Given the description of an element on the screen output the (x, y) to click on. 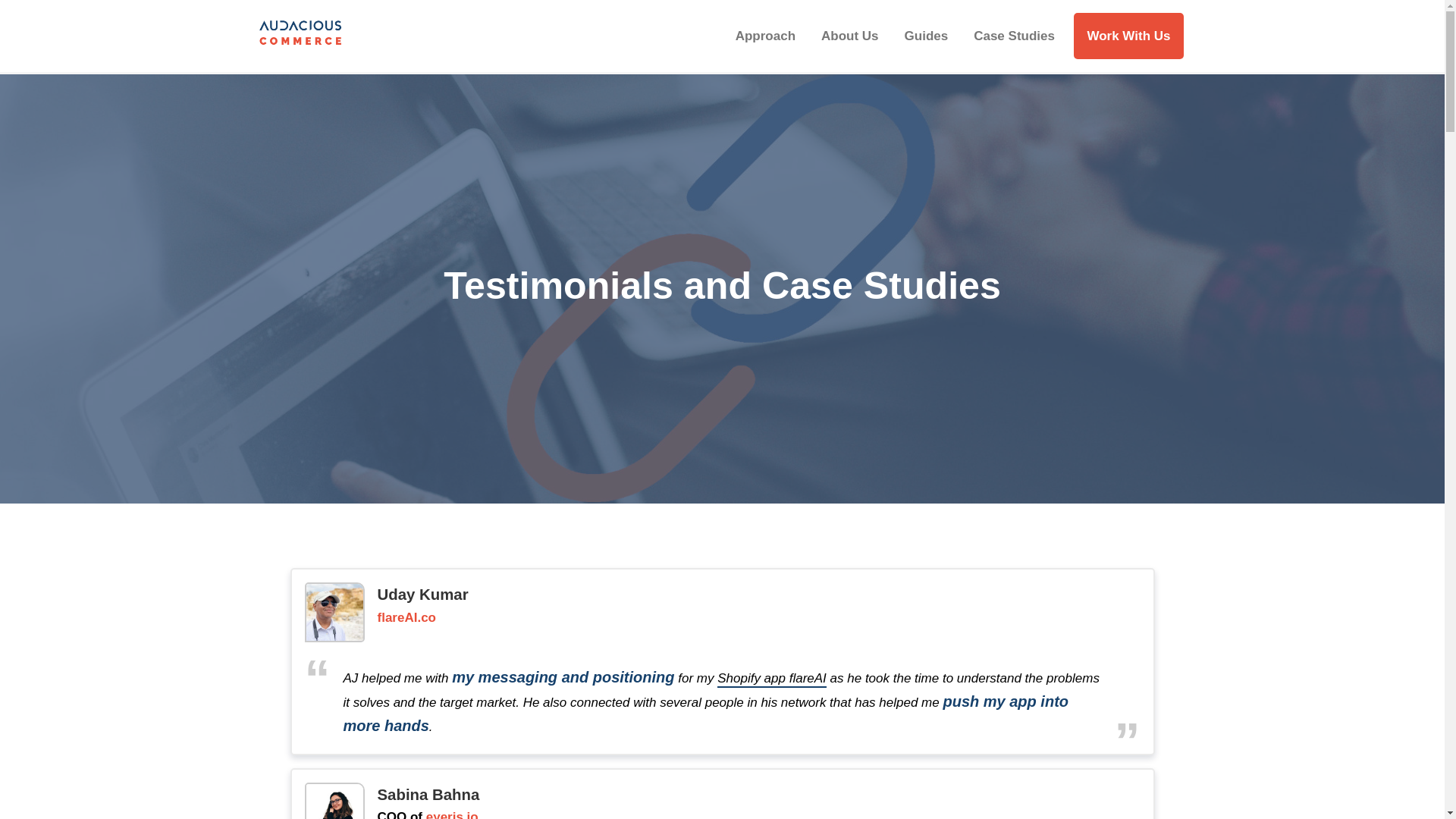
Case Studies (1014, 35)
Approach (764, 35)
flareAI.co (406, 618)
Guides (926, 35)
Shopify app flareAI (772, 679)
Work With Us (1128, 35)
About Us (850, 35)
eyeris.io (452, 814)
